Given the description of an element on the screen output the (x, y) to click on. 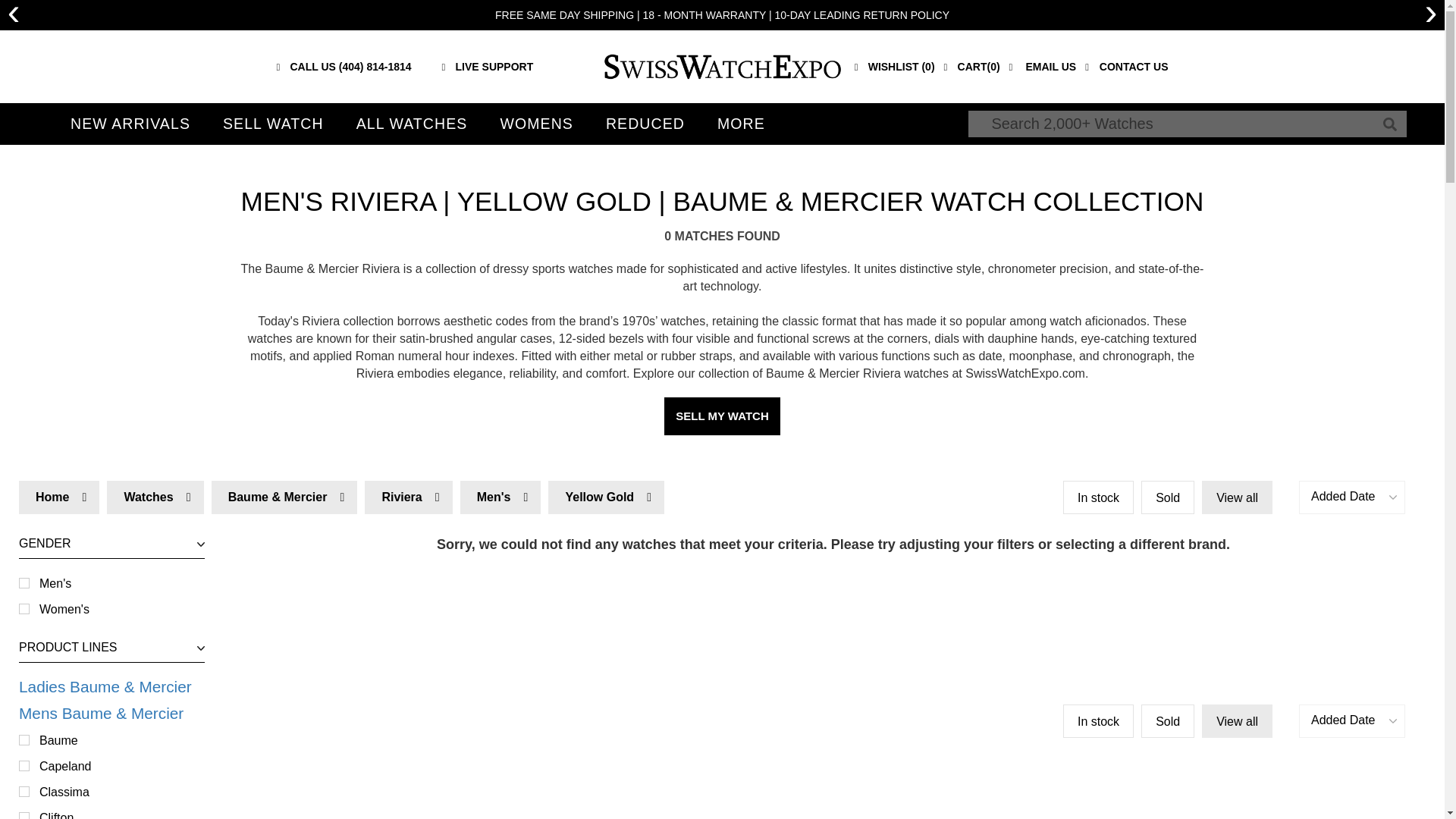
Added Date (1351, 720)
CONTACT US (1125, 66)
NEW ARRIVALS (129, 123)
EMAIL US (1043, 66)
Search (111, 596)
Previous (1389, 123)
Search (13, 15)
LIVE SUPPORT (111, 596)
